Given the description of an element on the screen output the (x, y) to click on. 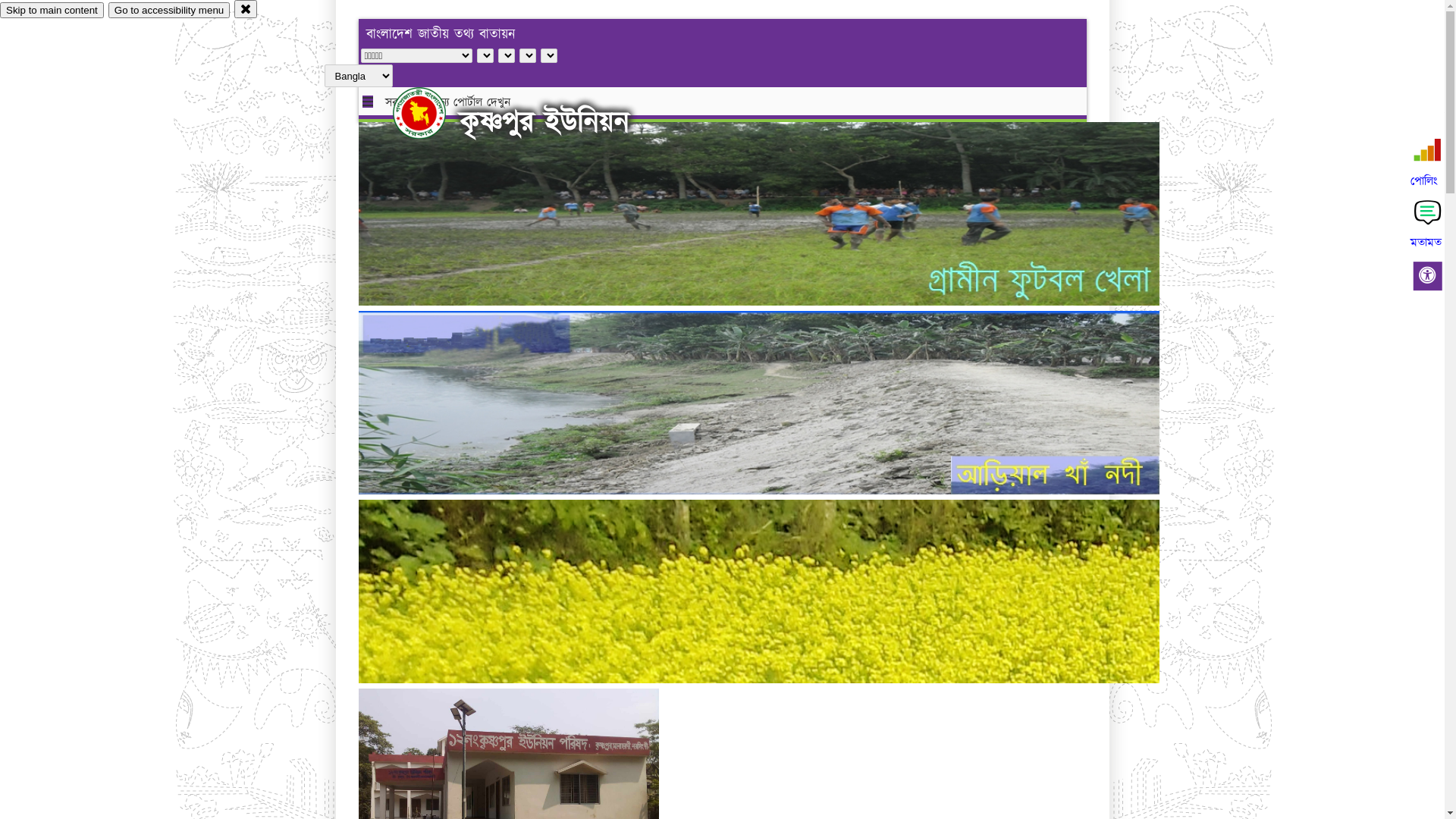
Go to accessibility menu Element type: text (168, 10)
Skip to main content Element type: text (51, 10)
close Element type: hover (245, 9)

                
             Element type: hover (431, 112)
